Given the description of an element on the screen output the (x, y) to click on. 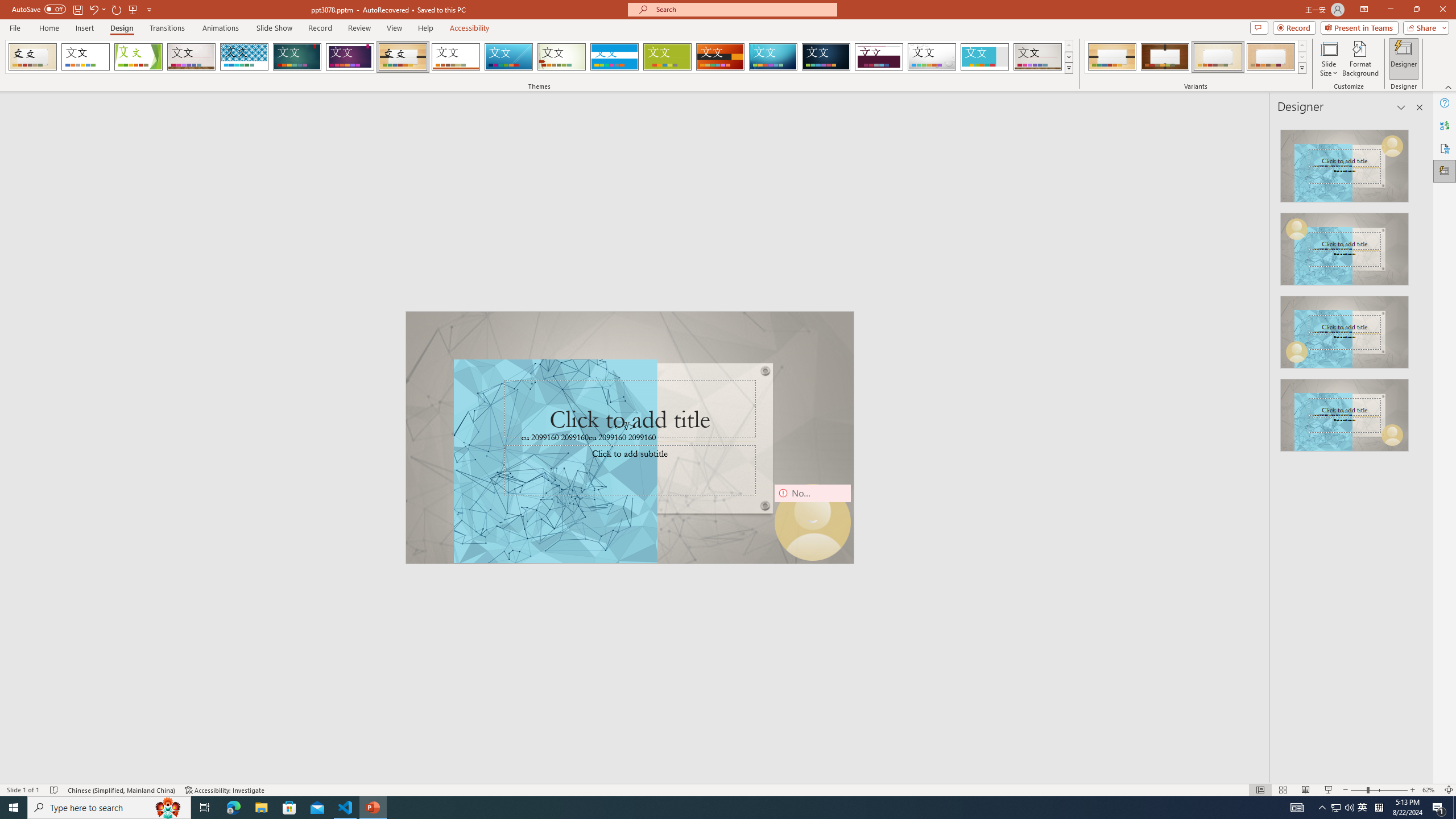
Basis (667, 56)
Subtitle TextBox (629, 470)
Banded (614, 56)
Organic (403, 56)
TextBox 7 (624, 426)
Circuit (772, 56)
